Given the description of an element on the screen output the (x, y) to click on. 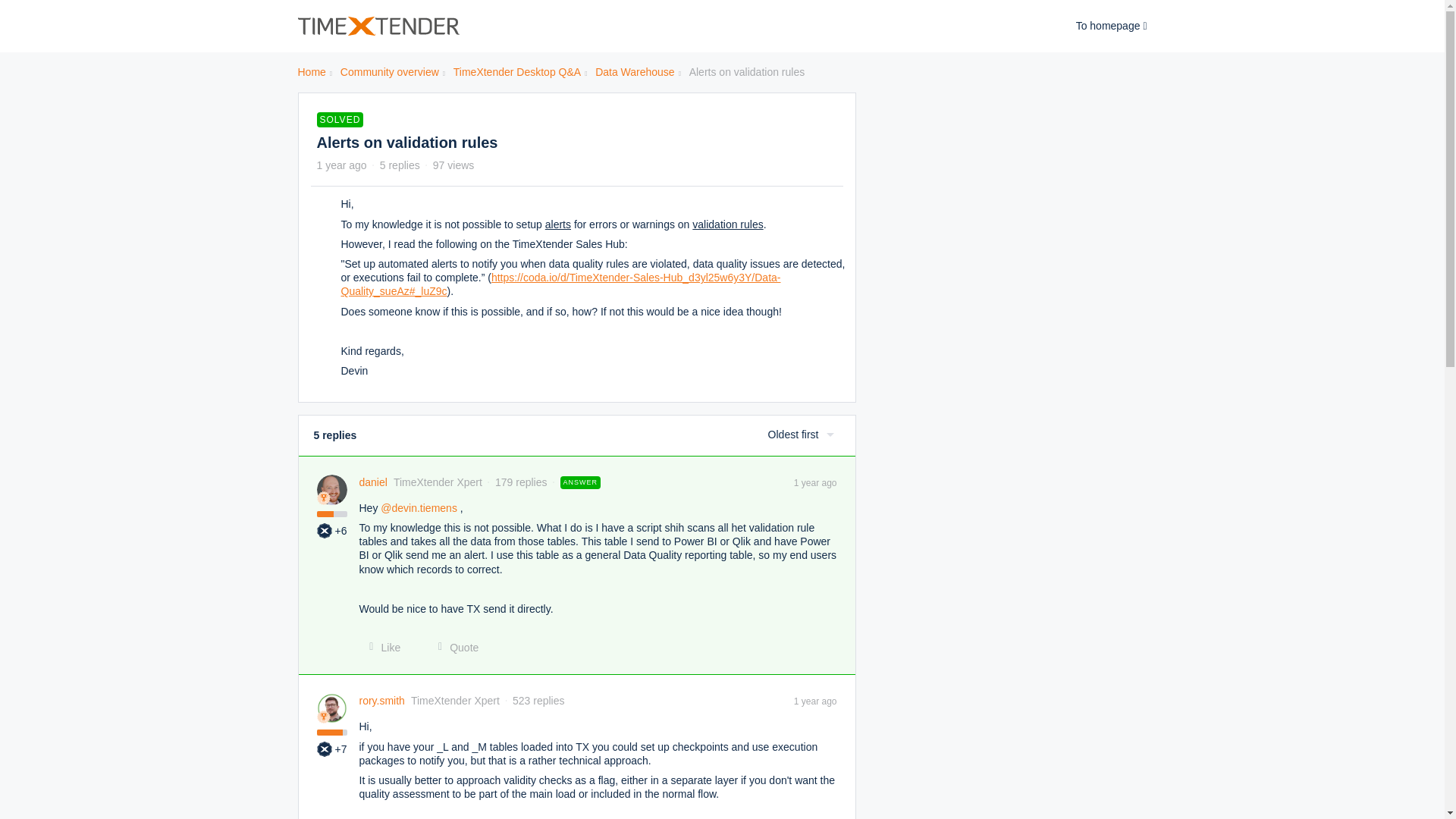
Product Expert (324, 530)
daniel (373, 482)
5 replies (400, 164)
daniel (373, 482)
Like (380, 647)
rory.smith (381, 700)
Quote (453, 647)
1 year ago (815, 481)
1 year ago (815, 700)
To homepage (1111, 26)
